Given the description of an element on the screen output the (x, y) to click on. 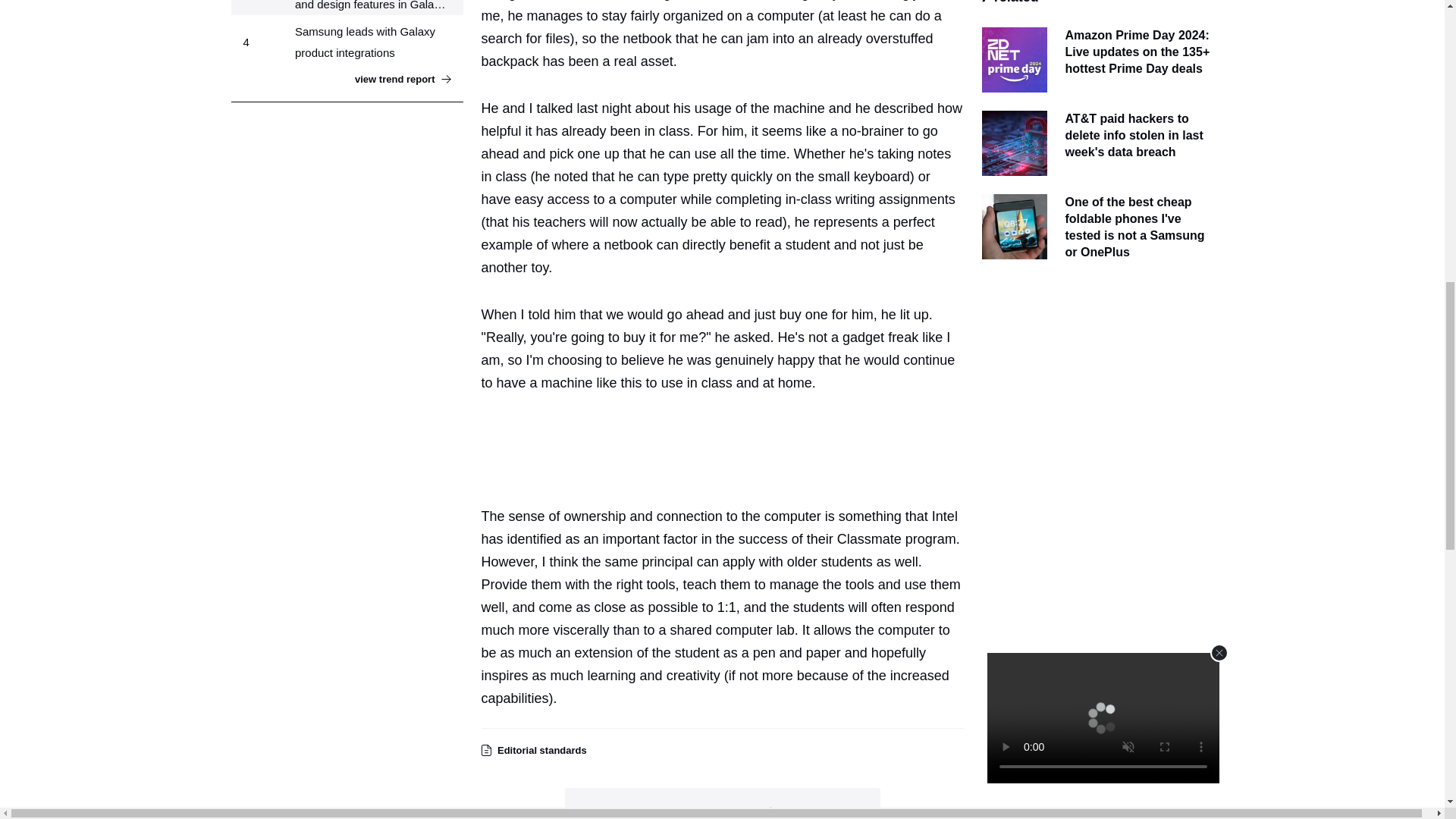
3rd party ad content (1097, 385)
3rd party ad content (727, 446)
